Given the description of an element on the screen output the (x, y) to click on. 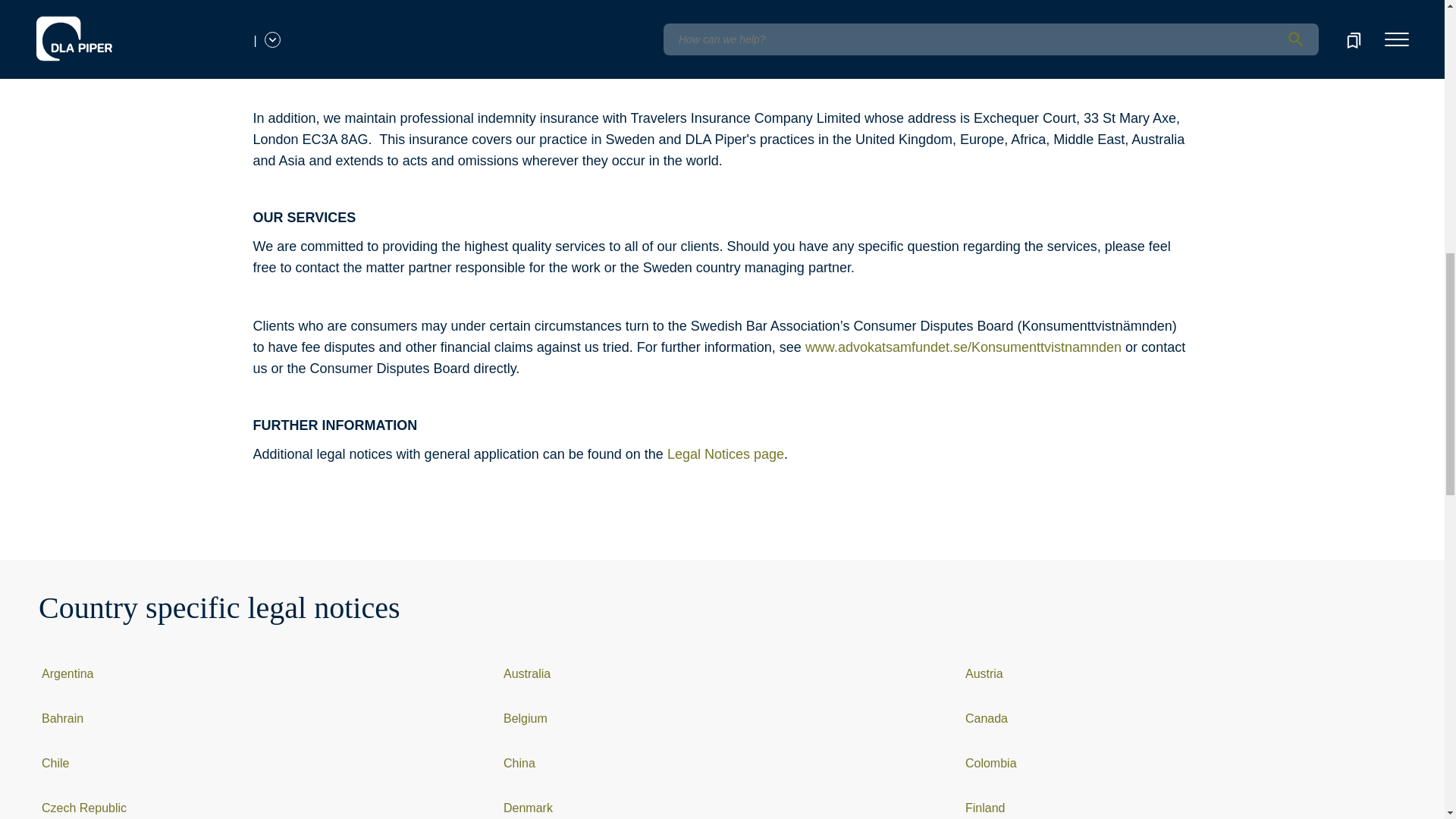
Argentina (68, 673)
Canada (986, 717)
Chile (55, 762)
Legal Notices page (725, 453)
Denmark (528, 807)
Belgium (525, 717)
China (519, 762)
Czech Republic (84, 807)
Bahrain (62, 717)
Australia (526, 673)
